Given the description of an element on the screen output the (x, y) to click on. 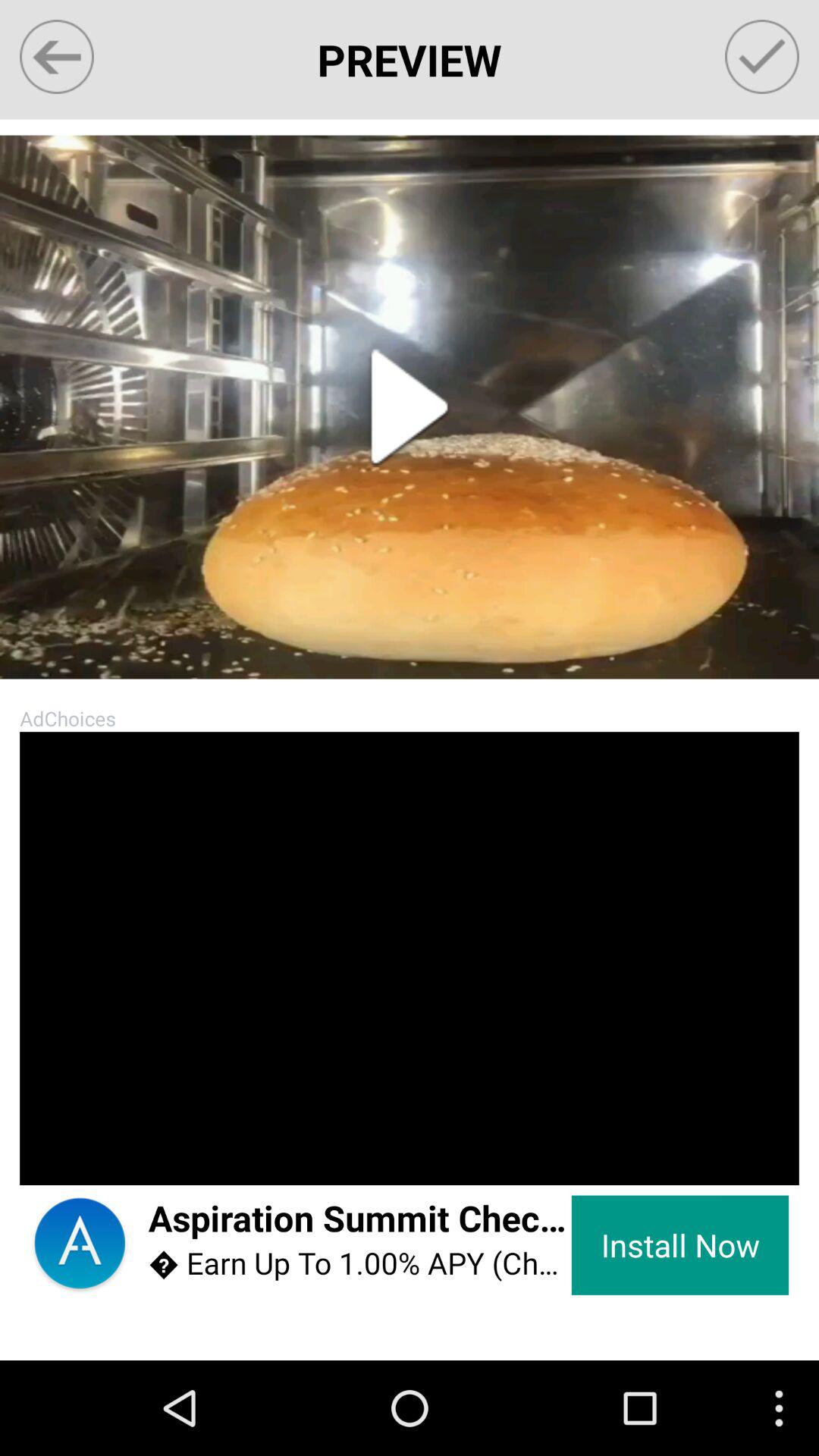
play video (409, 406)
